Given the description of an element on the screen output the (x, y) to click on. 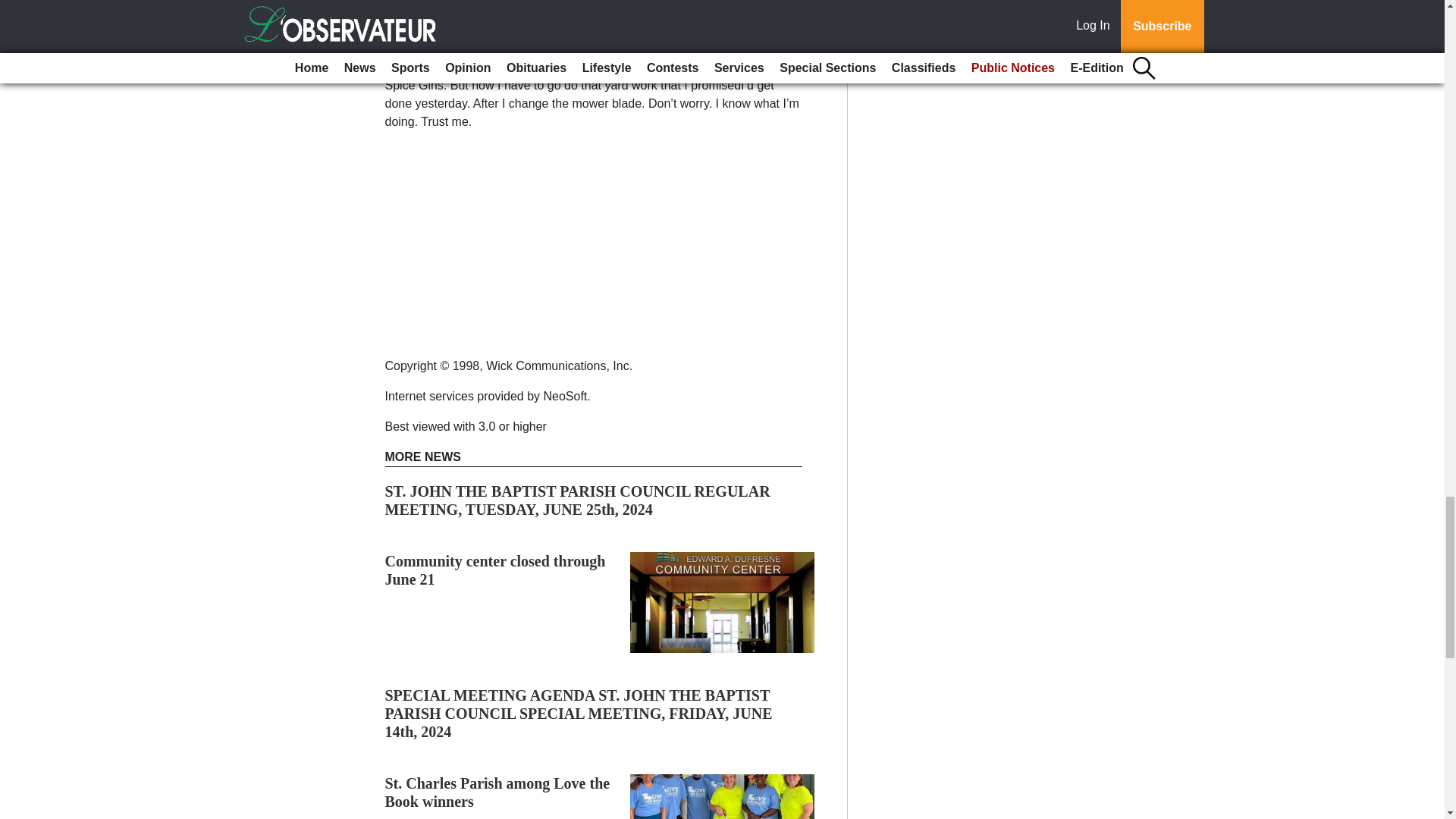
St. Charles Parish among Love the Book winners (497, 791)
St. Charles Parish among Love the Book winners (497, 791)
Community center closed through June 21 (495, 570)
Community center closed through June 21 (495, 570)
